Given the description of an element on the screen output the (x, y) to click on. 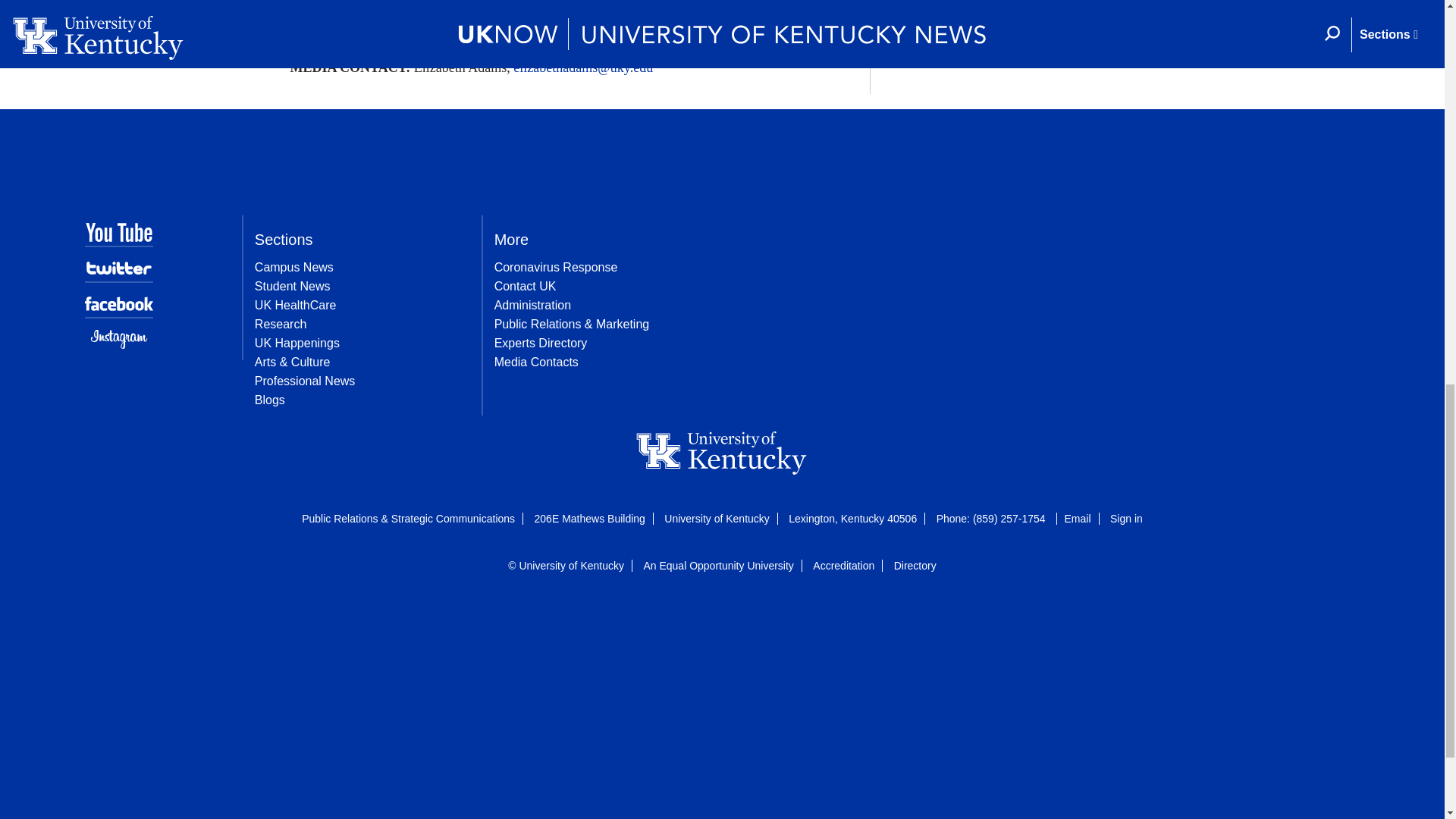
click here (749, 29)
Blogs (269, 399)
Coronavirus Response (556, 267)
Campus News (293, 267)
Student News (292, 286)
Research (279, 323)
UK Happenings (296, 342)
UK HealthCare (295, 305)
Professional News (304, 380)
Contact UK (525, 286)
